Given the description of an element on the screen output the (x, y) to click on. 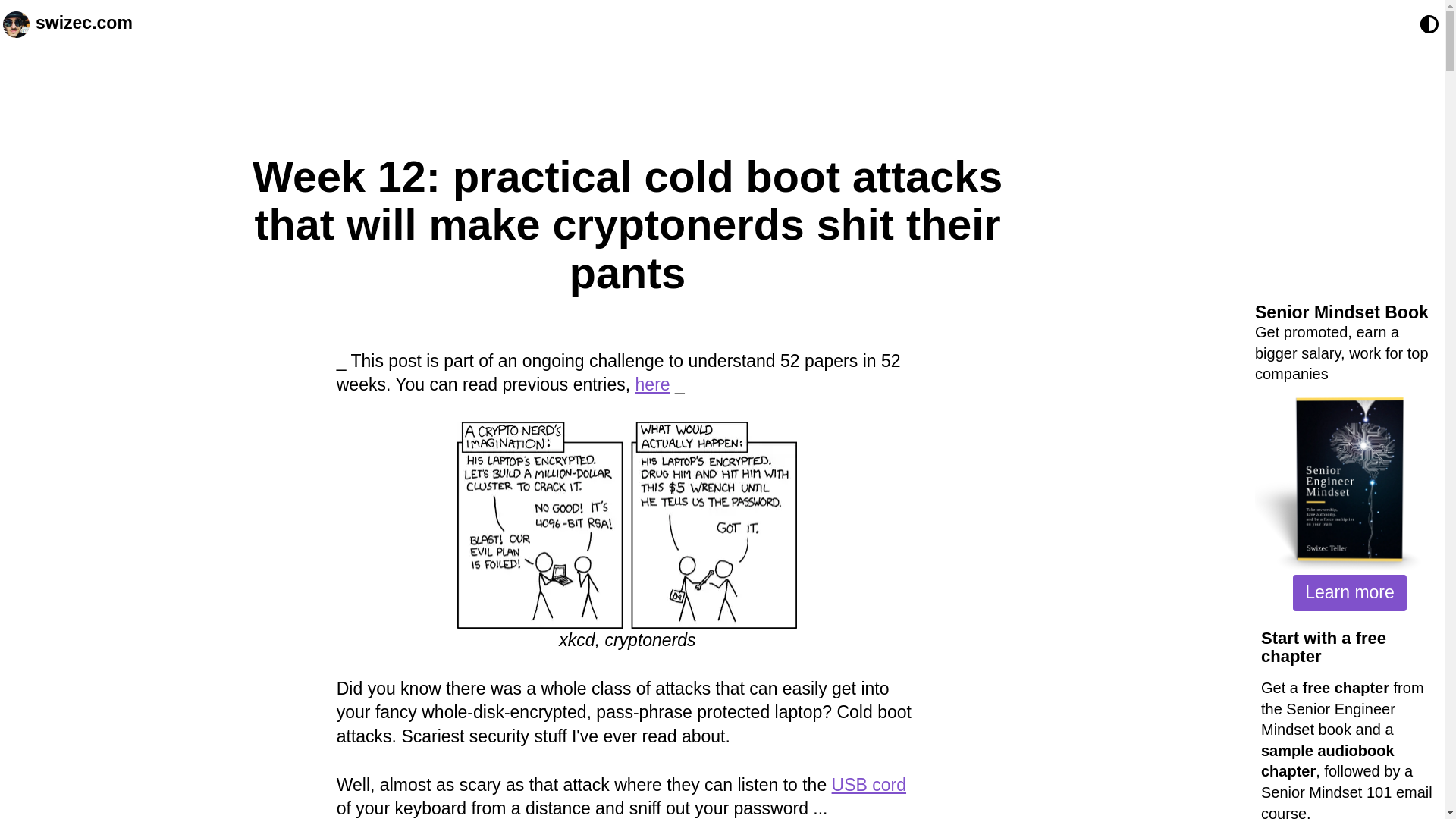
swizec.com (83, 23)
xkcd, cryptonerds (626, 524)
Start with a free chapter (1323, 646)
Swizec Teller - a geek with a hat (15, 23)
Universal Serial Bus (868, 784)
Learn more (1349, 592)
USB cord (868, 784)
here (651, 383)
Change color mode (1428, 24)
